Given the description of an element on the screen output the (x, y) to click on. 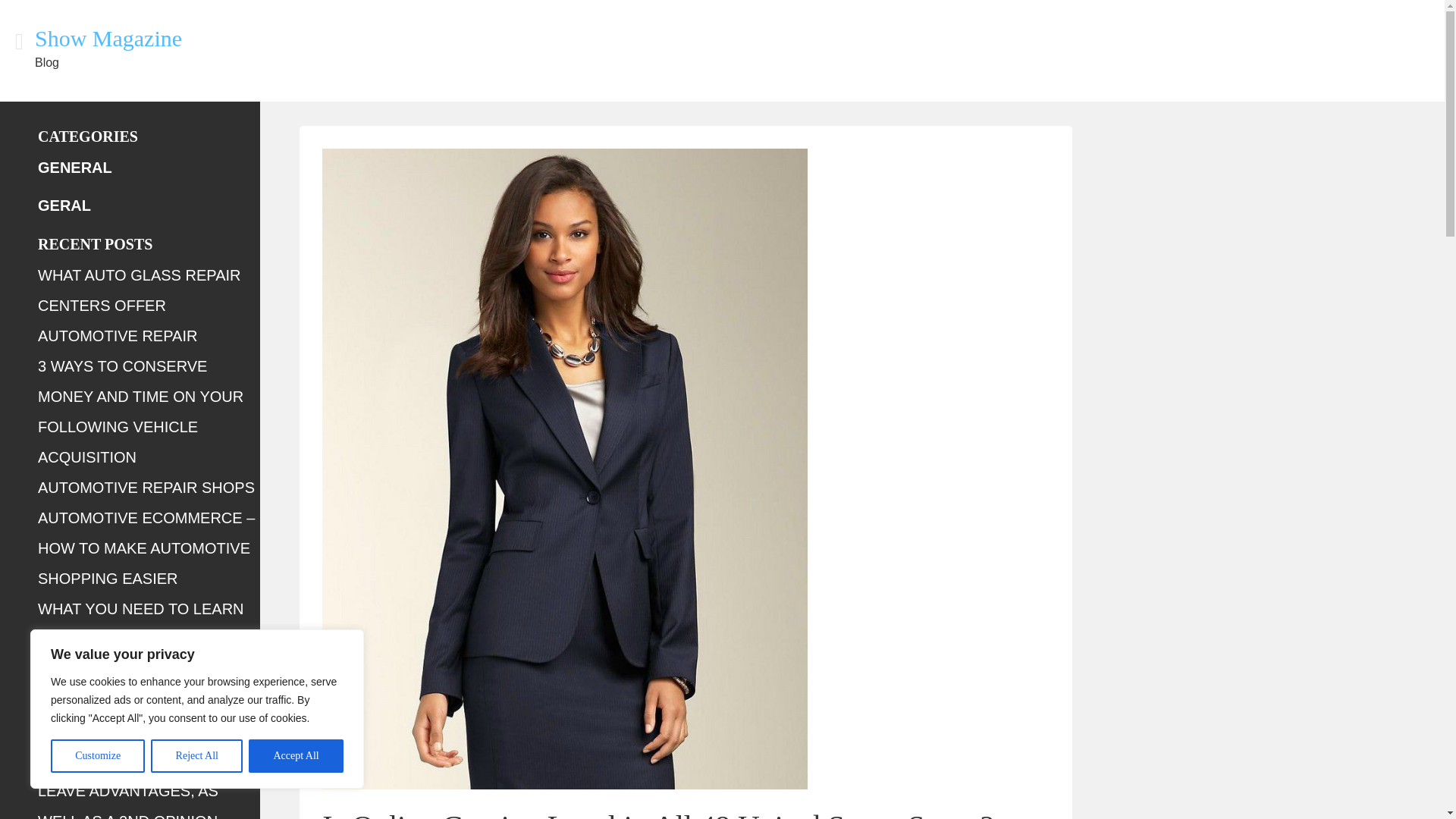
Accept All (295, 756)
Show Magazine (108, 37)
Customize (97, 756)
Reject All (197, 756)
